Given the description of an element on the screen output the (x, y) to click on. 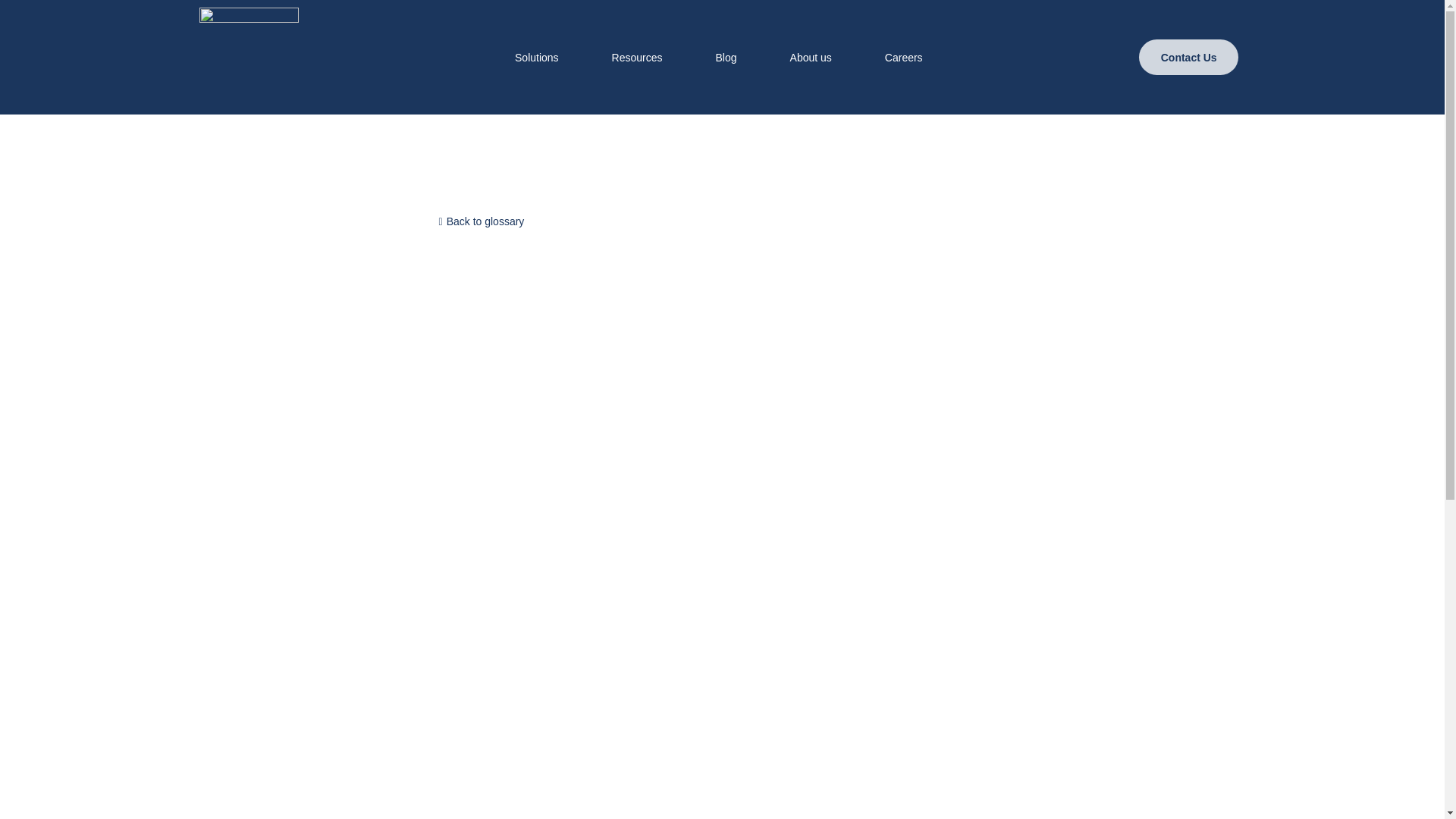
Blog (726, 56)
About us (810, 56)
Contact Us (1188, 57)
Careers (903, 56)
Resources (636, 56)
Solutions (536, 56)
Back to glossary (481, 221)
